Given the description of an element on the screen output the (x, y) to click on. 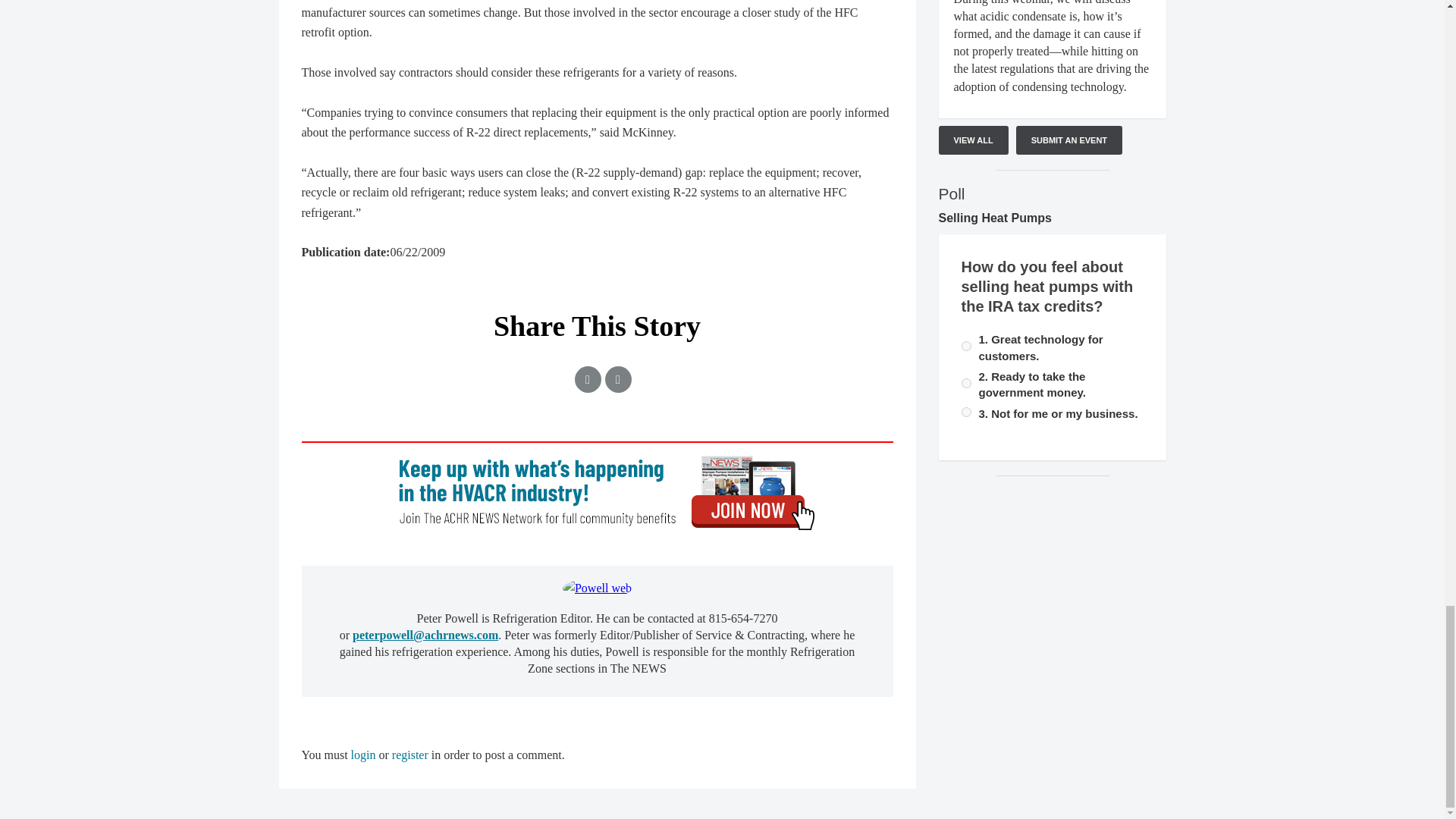
604 (965, 411)
605 (965, 346)
606 (965, 383)
